Given the description of an element on the screen output the (x, y) to click on. 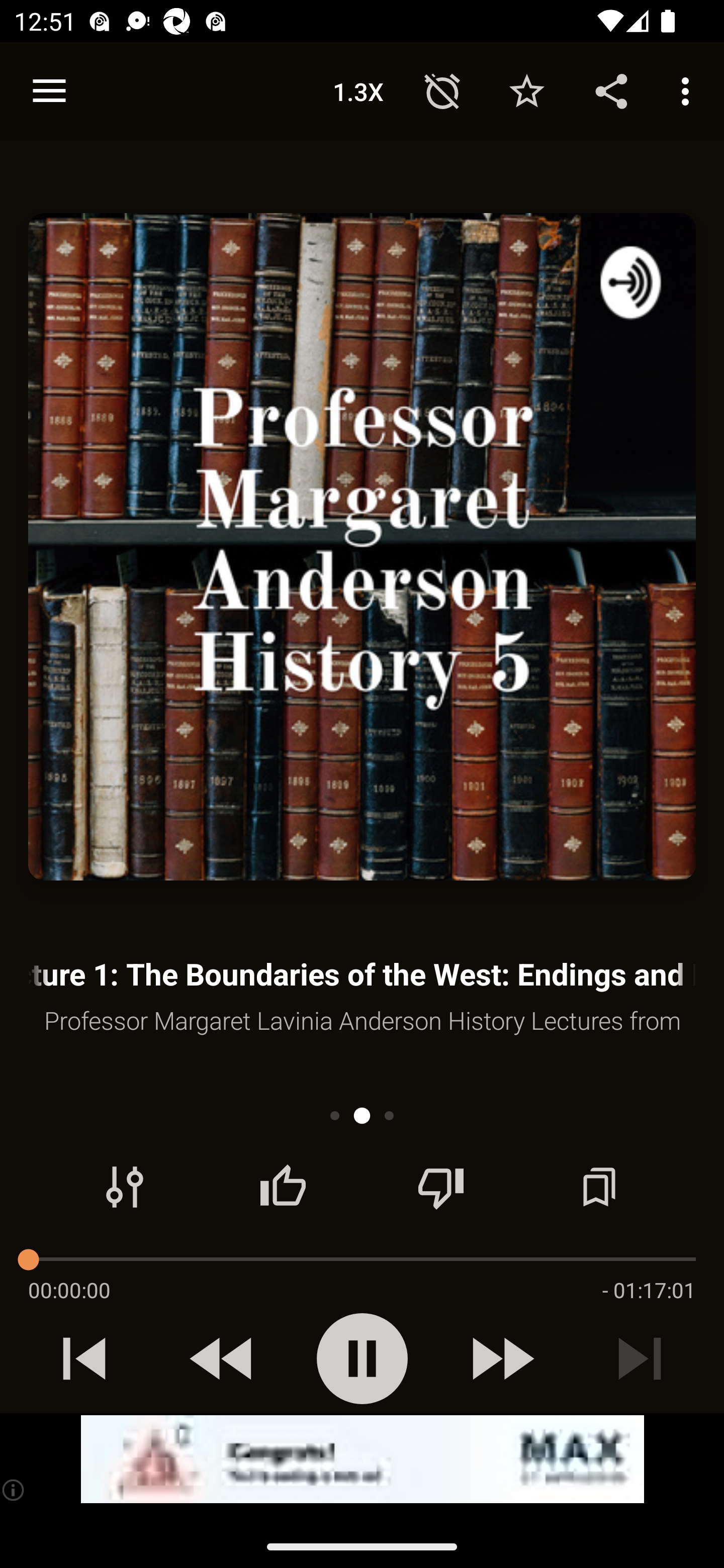
Open navigation sidebar (49, 91)
1.3X (357, 90)
Sleep Timer (442, 90)
Favorite (526, 90)
Share (611, 90)
More options (688, 90)
Episode description (361, 547)
Audio effects (124, 1186)
Thumbs up (283, 1186)
Thumbs down (440, 1186)
Chapters / Bookmarks (598, 1186)
- 01:17:01 (648, 1289)
Previous track (84, 1358)
Skip 15s backward (222, 1358)
Play / Pause (362, 1358)
Skip 30s forward (500, 1358)
Next track (639, 1358)
app-monetization (362, 1459)
(i) (14, 1489)
